Given the description of an element on the screen output the (x, y) to click on. 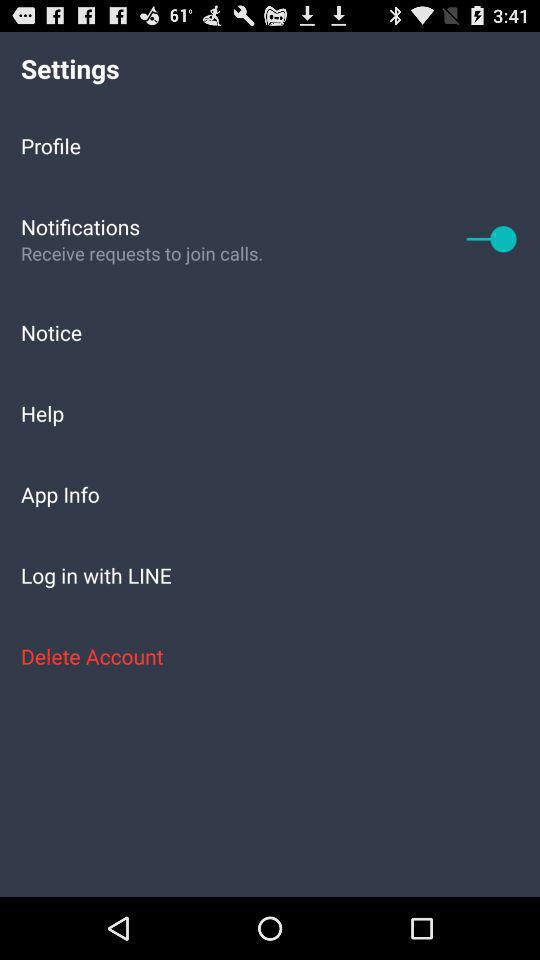
click the item above the app info icon (270, 412)
